Given the description of an element on the screen output the (x, y) to click on. 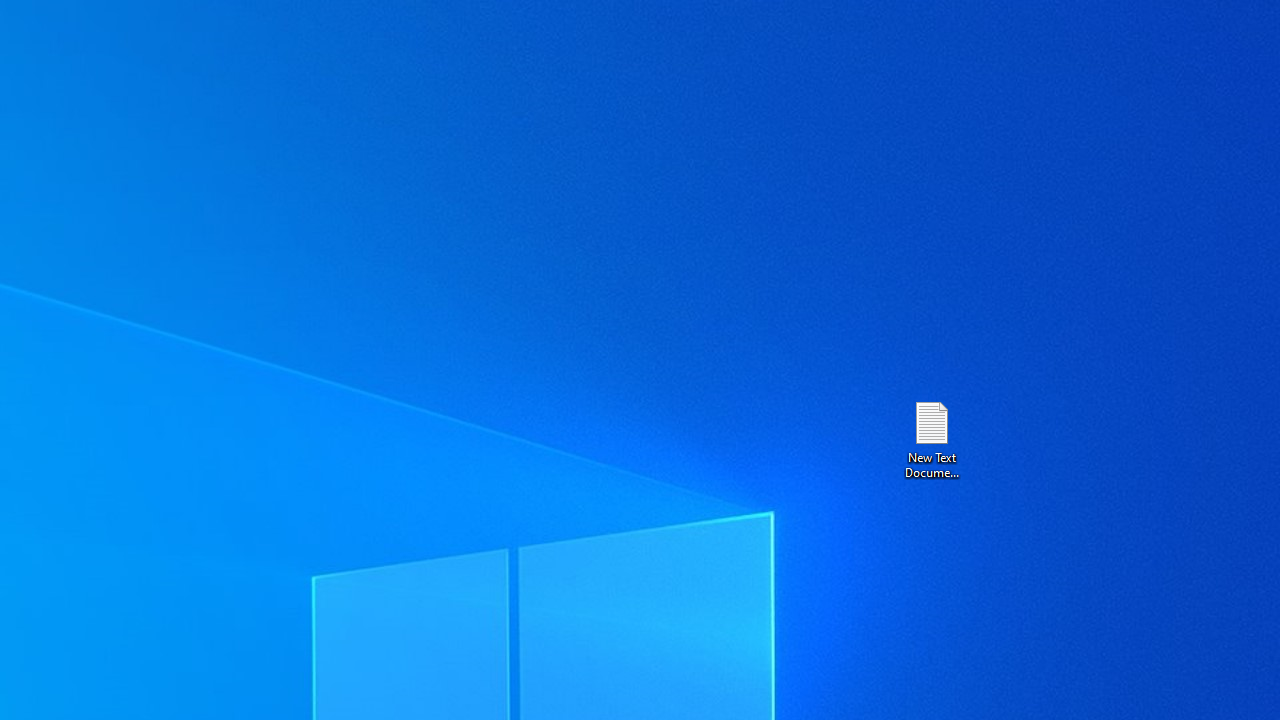
New Text Document (2) (931, 438)
